Given the description of an element on the screen output the (x, y) to click on. 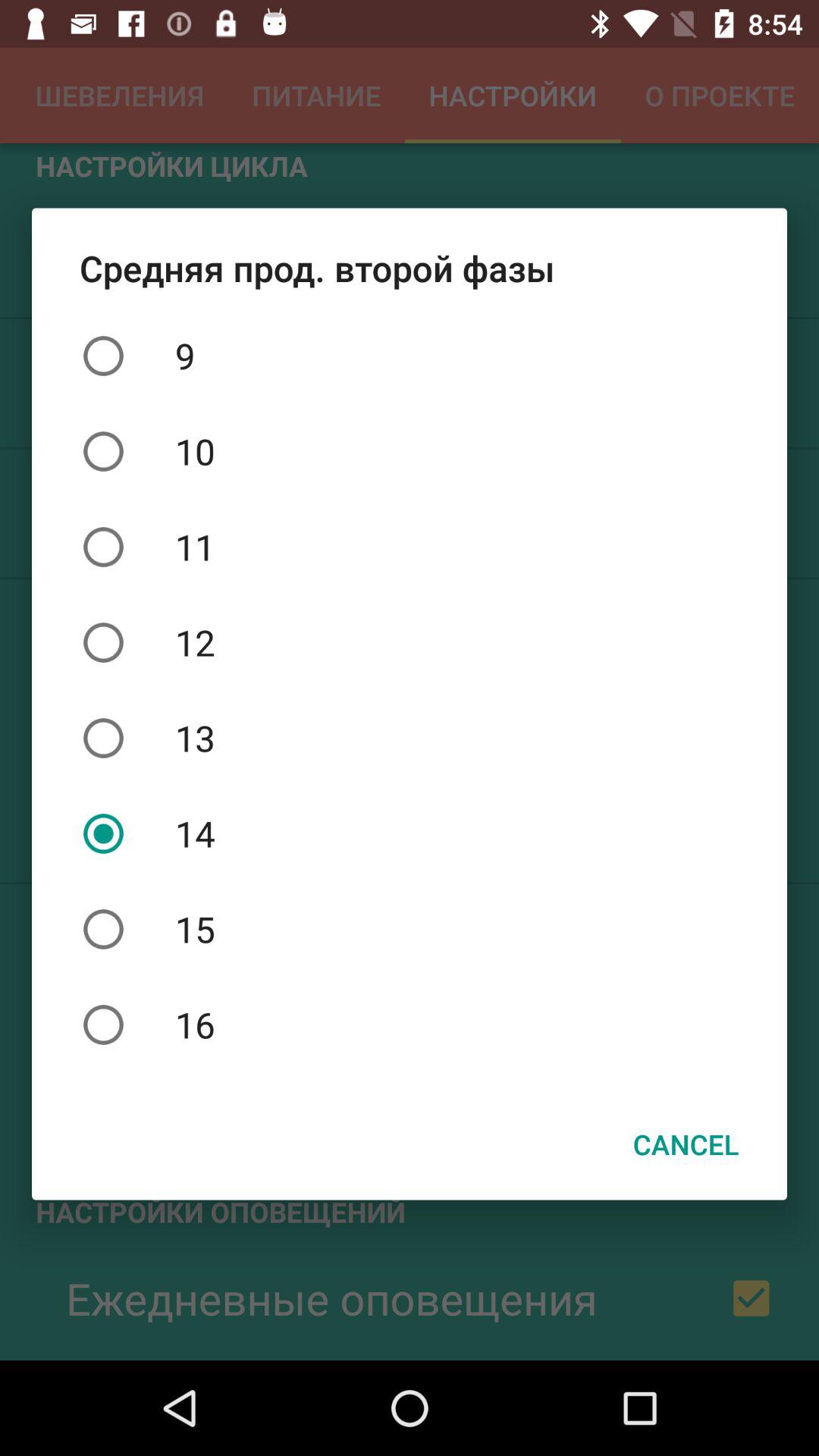
turn off icon above 14 icon (409, 738)
